Given the description of an element on the screen output the (x, y) to click on. 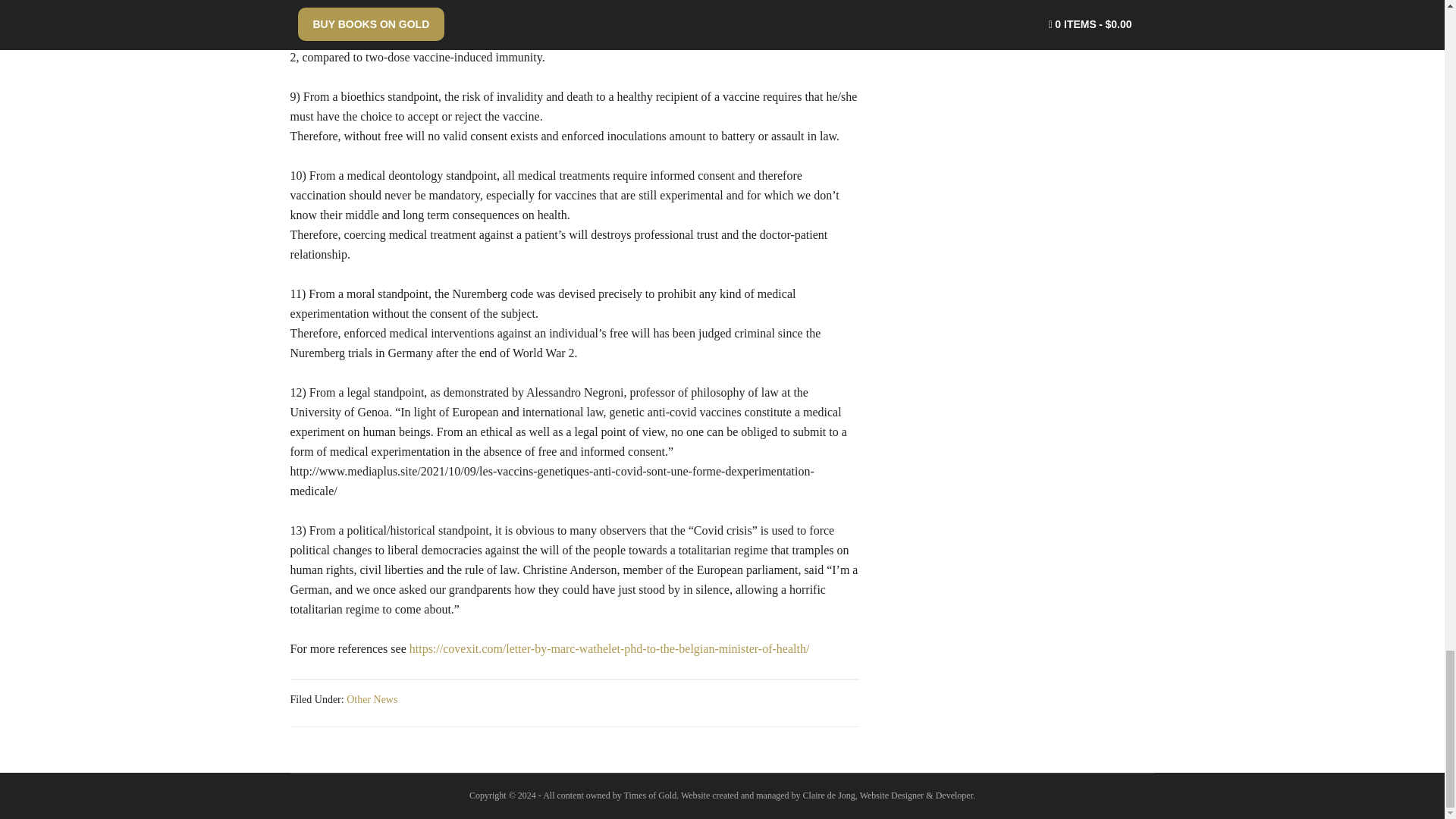
Other News (371, 698)
